Given the description of an element on the screen output the (x, y) to click on. 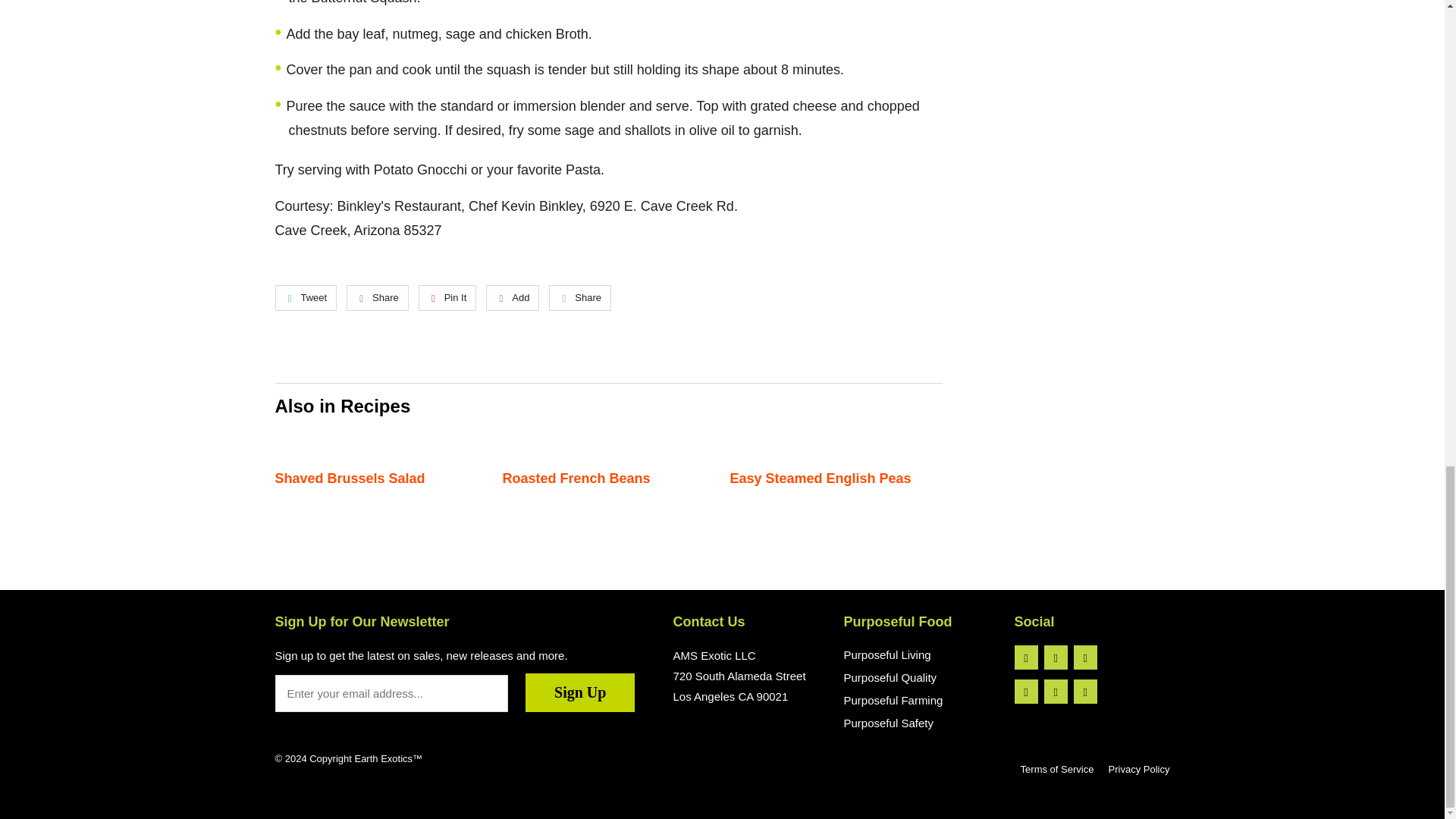
Tweet (305, 298)
Share (377, 298)
Pin It (448, 298)
Shaved Brussels Salad (350, 478)
Share this on Twitter (305, 298)
Roasted French Beans (575, 478)
Sign Up (579, 692)
Share (579, 298)
Add (512, 298)
